Given the description of an element on the screen output the (x, y) to click on. 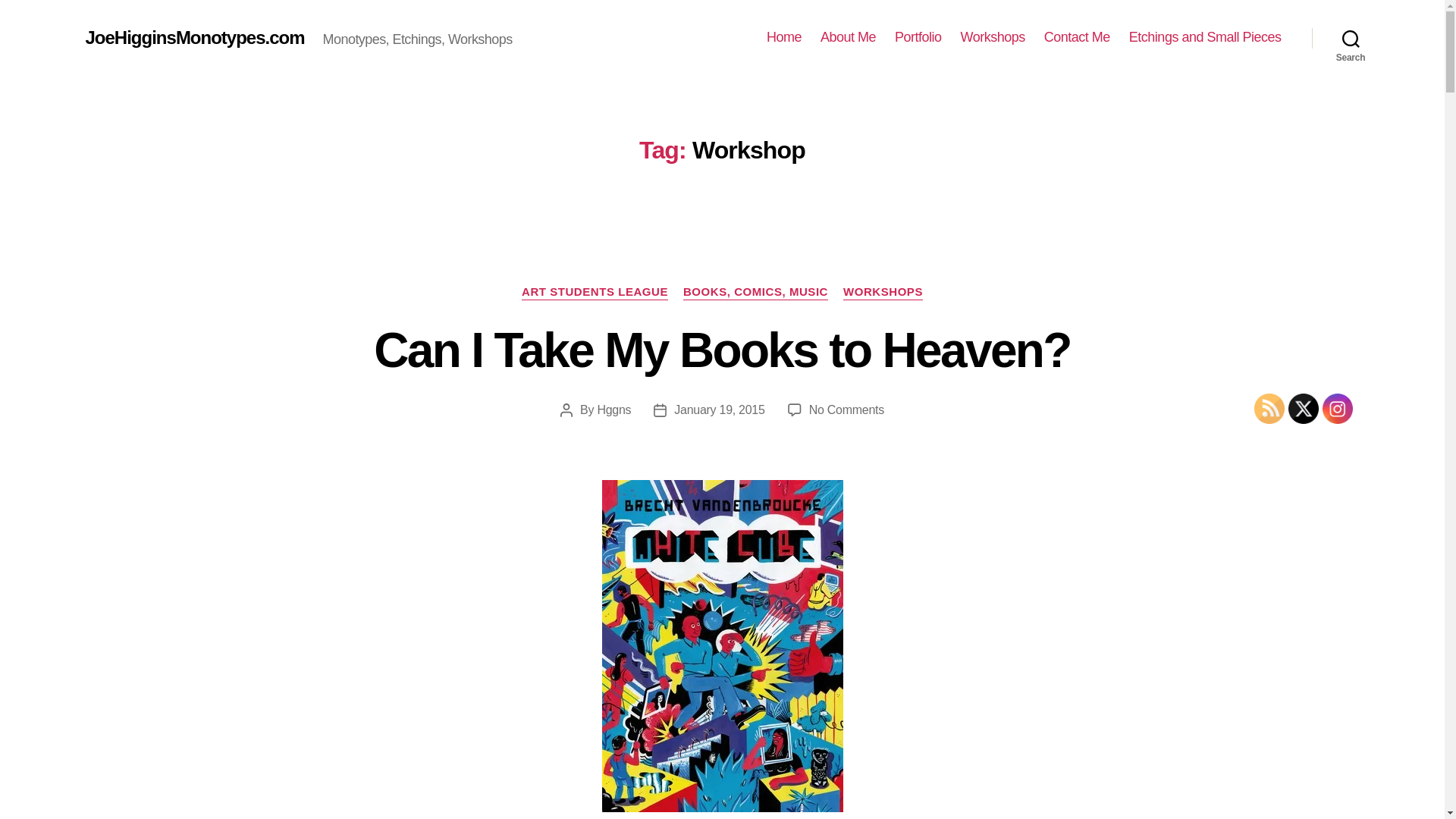
Hggns (613, 409)
Search (1350, 37)
Contact Me (1076, 37)
BOOKS, COMICS, MUSIC (755, 292)
Etchings and Small Pieces (1205, 37)
Home (784, 37)
Can I Take My Books to Heaven? (722, 349)
WORKSHOPS (883, 292)
About Me (848, 37)
Workshops (992, 37)
JoeHigginsMonotypes.com (194, 37)
Portfolio (918, 37)
Twitter (1303, 408)
Instagram (1337, 408)
RSS (1268, 408)
